Given the description of an element on the screen output the (x, y) to click on. 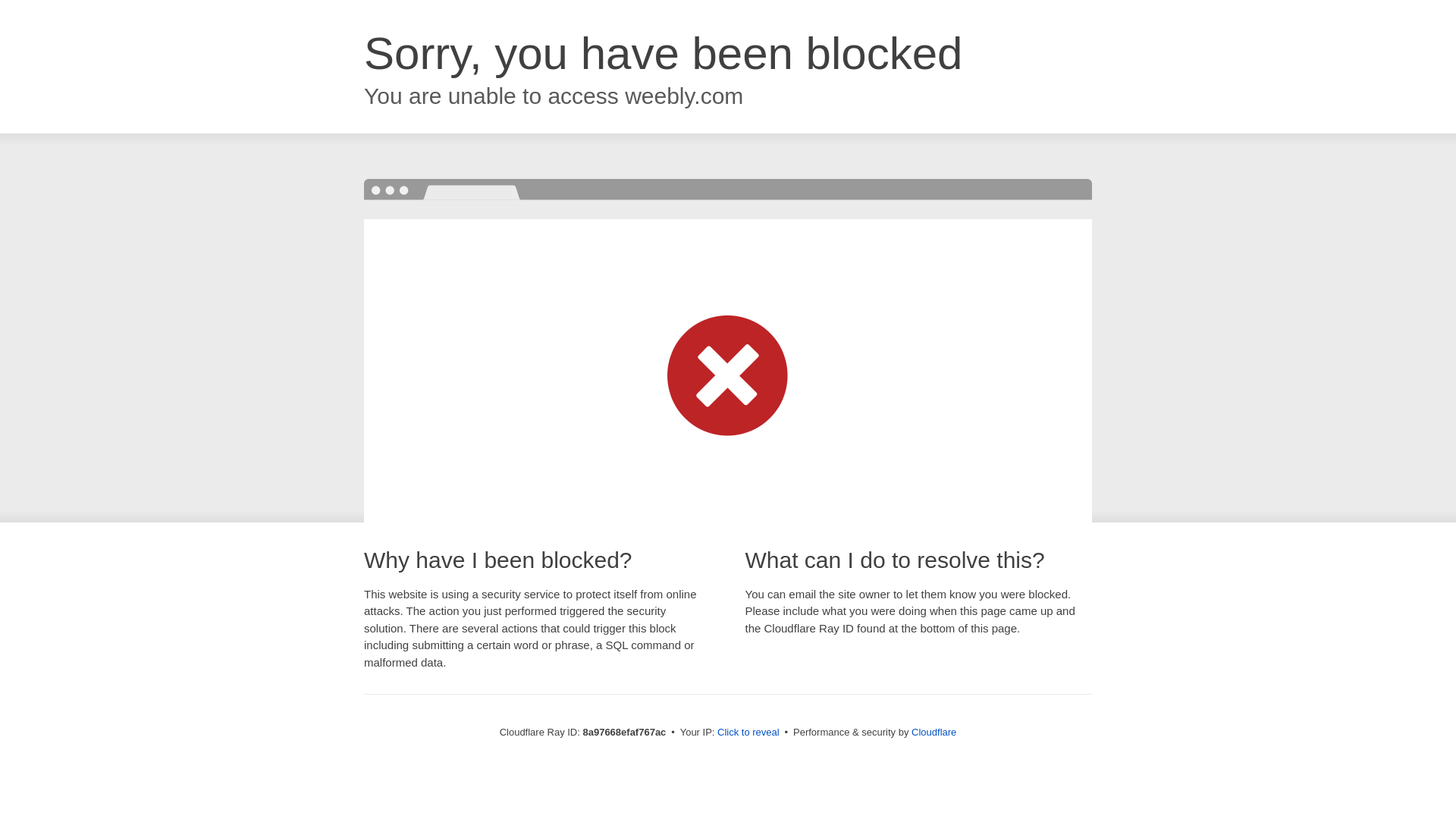
Click to reveal (747, 732)
Cloudflare (933, 731)
